Given the description of an element on the screen output the (x, y) to click on. 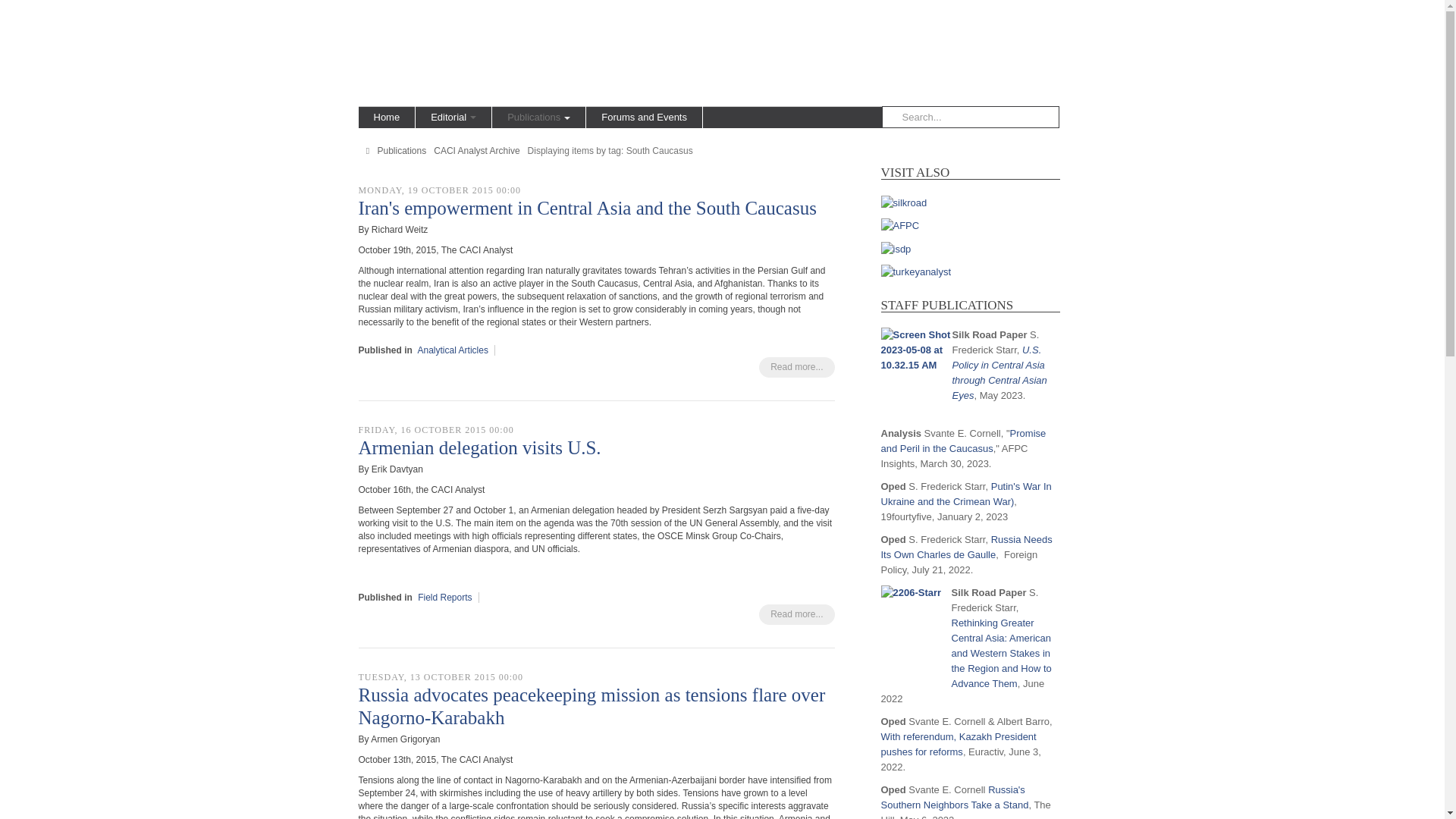
Publications (401, 150)
CACI Analyst Archive (476, 150)
Iran's empowerment in Central Asia and the South Caucasus (586, 208)
Subscribe to this RSS feed (821, 167)
Read more... (796, 367)
Publications (538, 117)
Editorial (453, 117)
Read more... (796, 614)
Armenian delegation visits U.S. (478, 447)
Forums and Events (643, 117)
